Given the description of an element on the screen output the (x, y) to click on. 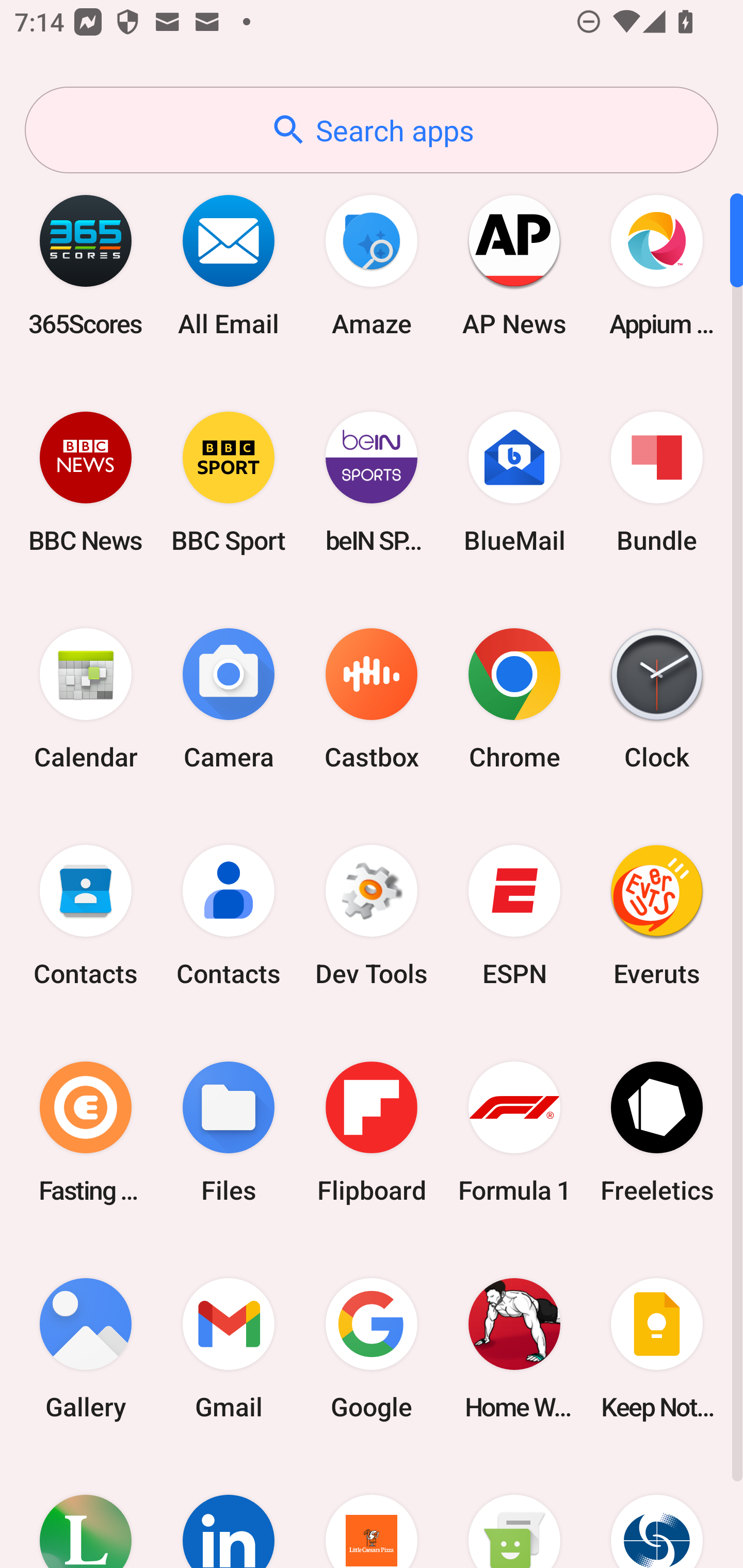
  Search apps (371, 130)
365Scores (85, 264)
All Email (228, 264)
Amaze (371, 264)
AP News (514, 264)
Appium Settings (656, 264)
BBC News (85, 482)
BBC Sport (228, 482)
beIN SPORTS (371, 482)
BlueMail (514, 482)
Bundle (656, 482)
Calendar (85, 699)
Camera (228, 699)
Castbox (371, 699)
Chrome (514, 699)
Clock (656, 699)
Contacts (85, 915)
Contacts (228, 915)
Dev Tools (371, 915)
ESPN (514, 915)
Everuts (656, 915)
Fasting Coach (85, 1131)
Files (228, 1131)
Flipboard (371, 1131)
Formula 1 (514, 1131)
Freeletics (656, 1131)
Gallery (85, 1348)
Gmail (228, 1348)
Google (371, 1348)
Home Workout (514, 1348)
Keep Notes (656, 1348)
